Given the description of an element on the screen output the (x, y) to click on. 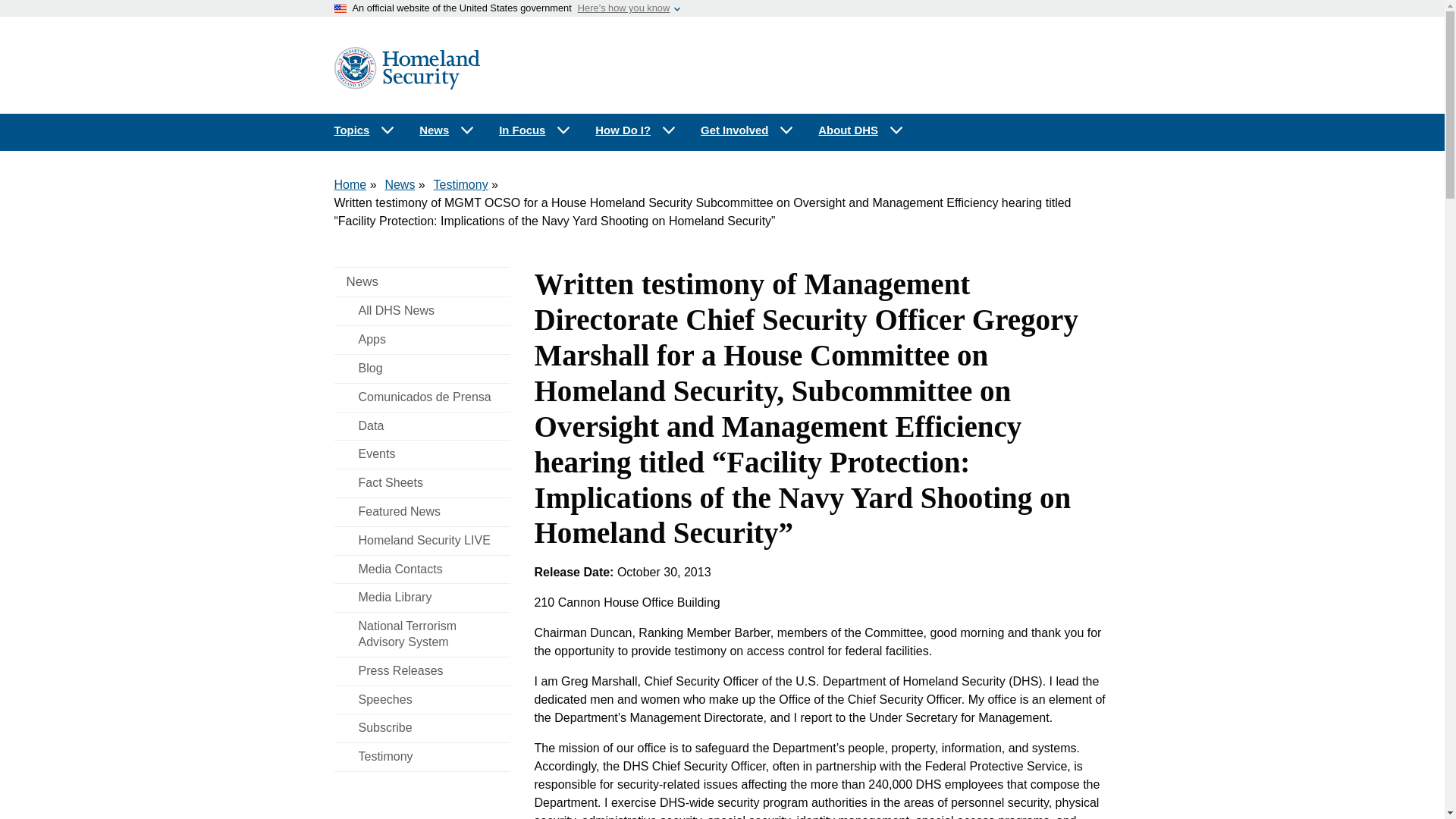
Data (421, 426)
News (399, 184)
Homeland Security LIVE (421, 541)
National Terrorism Advisory System (421, 634)
News (421, 281)
About DHS (860, 130)
Press Releases (421, 671)
In Focus (534, 130)
Featured News (421, 511)
Media Library (421, 597)
How Do I? (635, 130)
Topics (364, 130)
All DHS News (421, 311)
Featured News (421, 511)
